Given the description of an element on the screen output the (x, y) to click on. 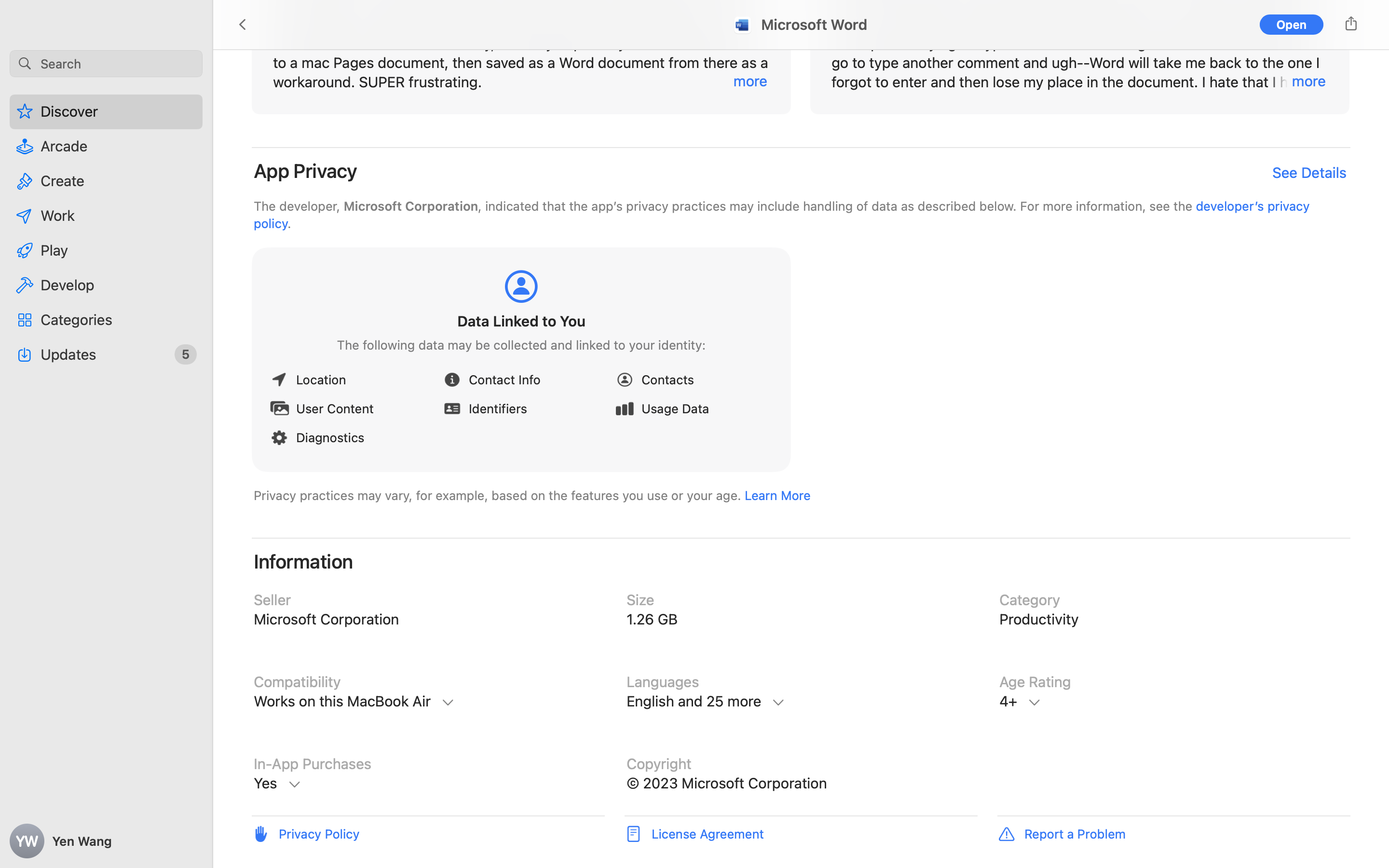
Data Linked to You, The following data may be collected and linked to your identity, Location, Contact Info, Contacts, User Content, Identifiers, Usage Data, Diagnostics Element type: AXStaticText (520, 361)
Copyright, © 2023 Microsoft Corporation Element type: AXStaticText (800, 783)
In-App Purchases, Microsoft 365 Personal, $69.99, Microsoft 365 Personal Monthly, $6.99, Microsoft 365 Family, $99.99, Microsoft 365 Family, $9.99, Microsoft Copilot Pro, $20.00, Microsoft 365 Personal, $119.99, Learn More Element type: AXStaticText (427, 783)
Seller, Microsoft Corporation Element type: AXStaticText (427, 619)
Compatibility, Mac, Requires macOS 12.0 or later Element type: AXStaticText (427, 701)
